Given the description of an element on the screen output the (x, y) to click on. 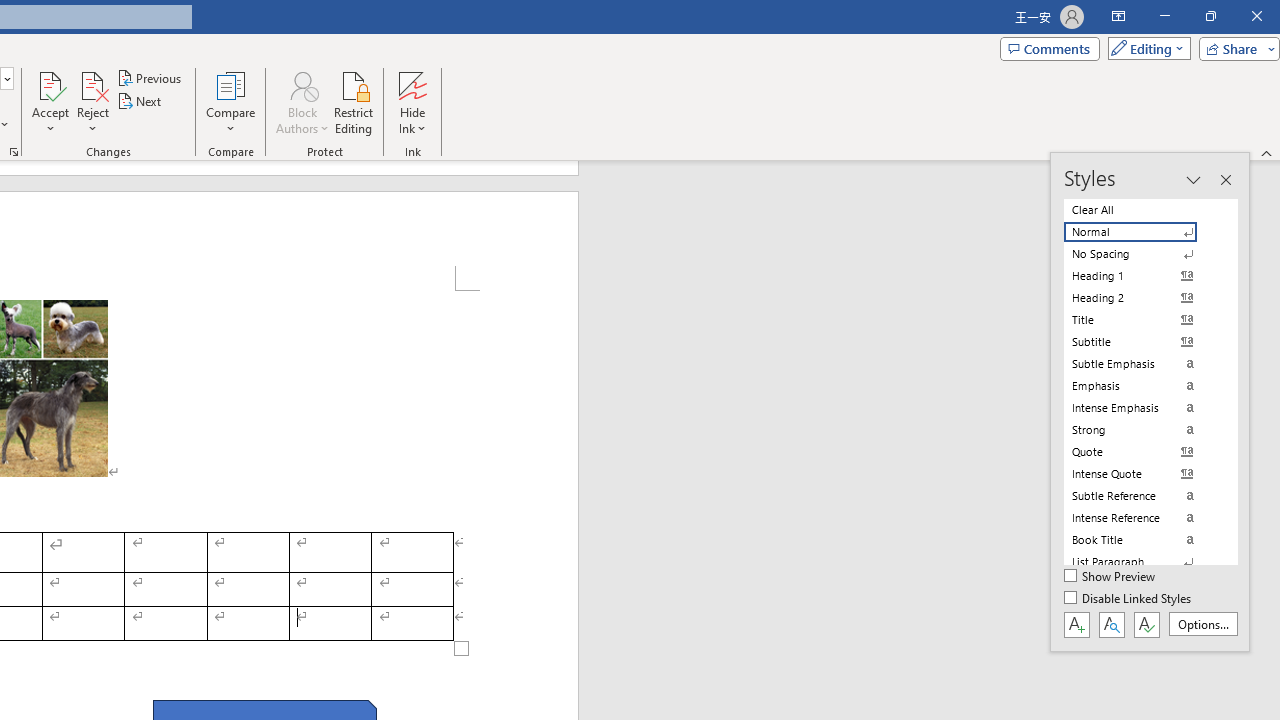
Class: NetUIButton (1146, 624)
Title (1142, 319)
No Spacing (1142, 253)
Subtitle (1142, 341)
